Given the description of an element on the screen output the (x, y) to click on. 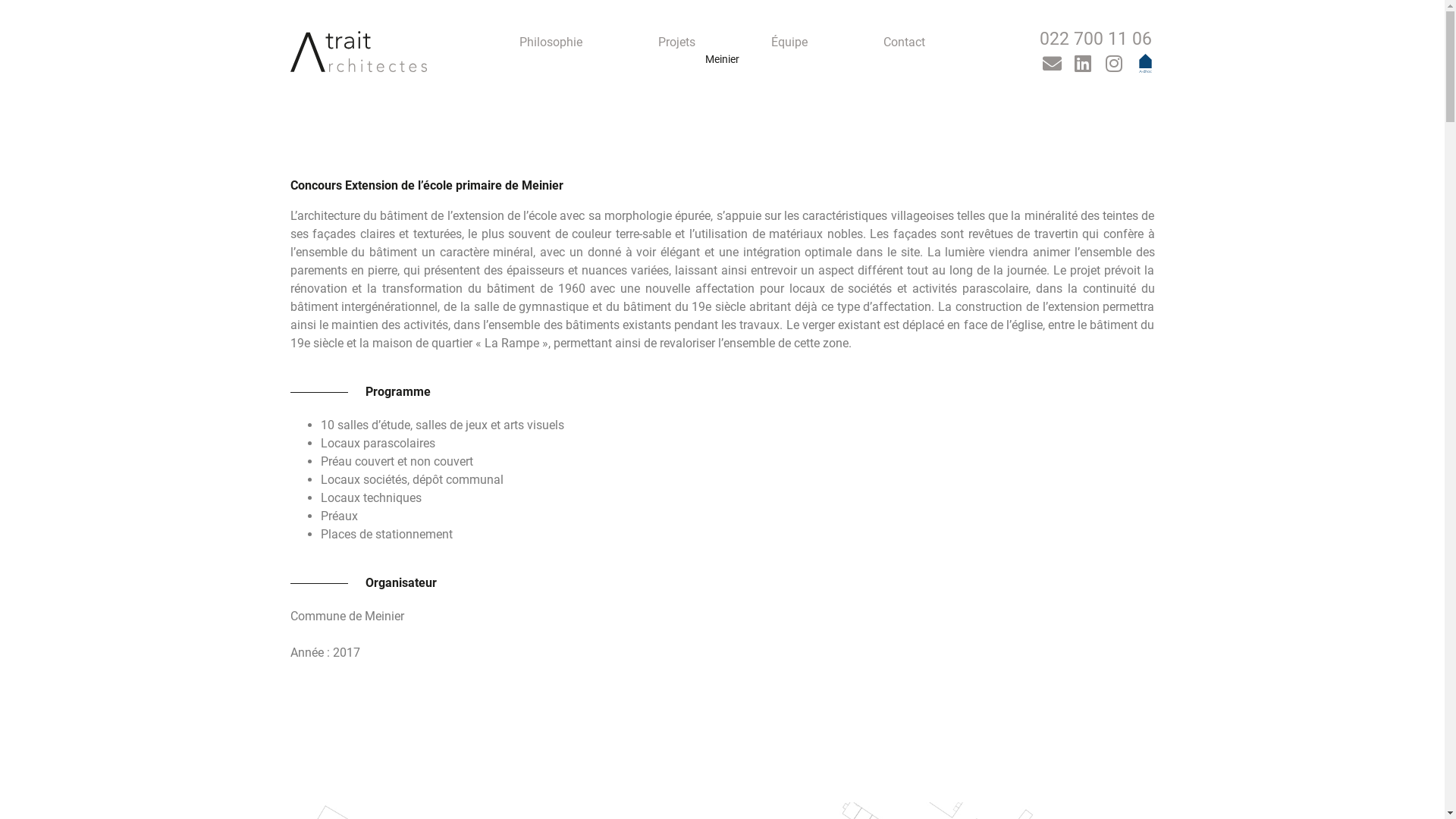
Philosophie Element type: text (550, 42)
Projets Element type: text (676, 42)
022 700 11 06 Element type: text (1094, 41)
Contact Element type: text (904, 42)
